Given the description of an element on the screen output the (x, y) to click on. 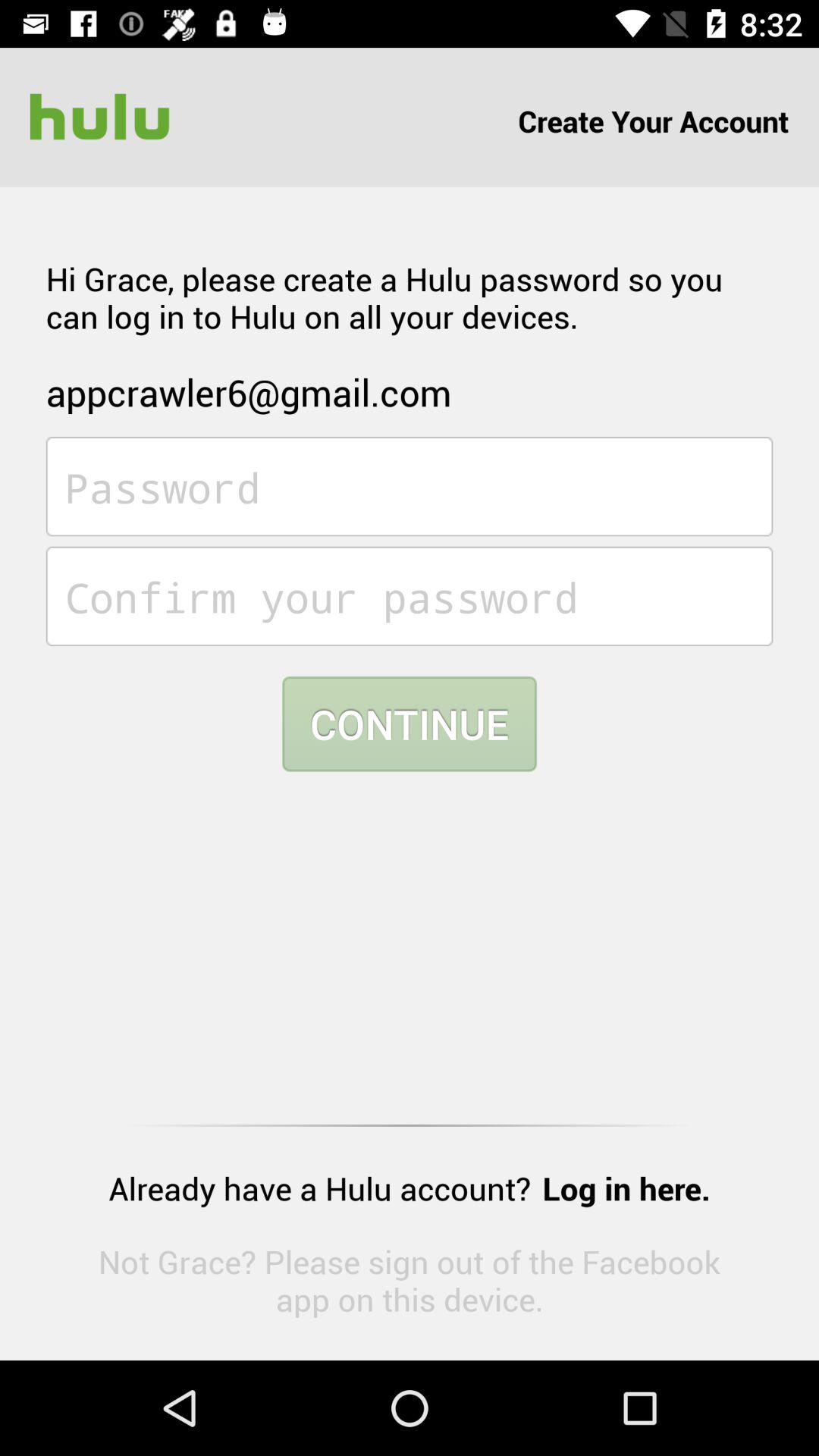
press the not grace please icon (409, 1279)
